Given the description of an element on the screen output the (x, y) to click on. 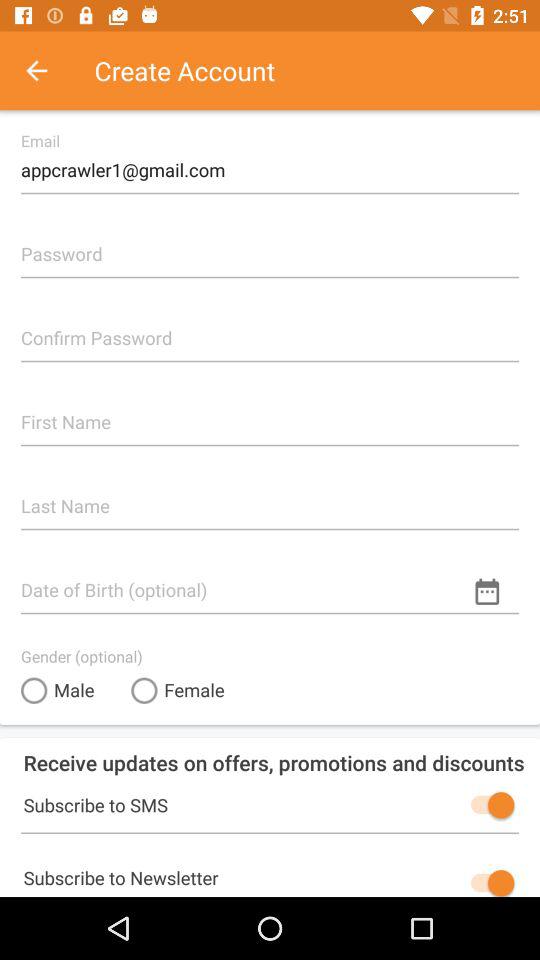
press item to the left of female icon (57, 690)
